Given the description of an element on the screen output the (x, y) to click on. 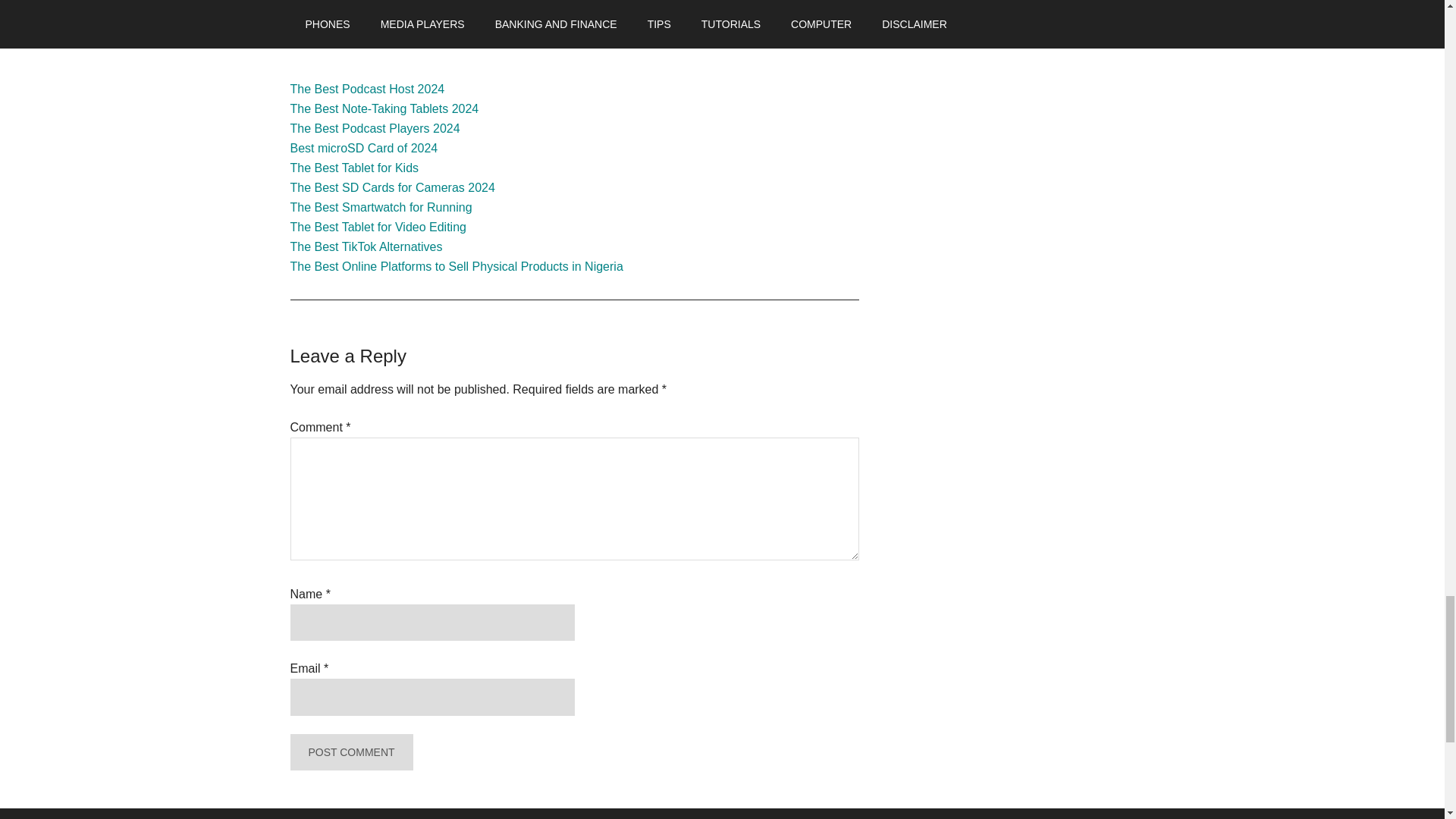
The Best Note-Taking Tablets 2024 (384, 108)
The Best Podcast Players 2024 (374, 128)
The Best Smartwatch for Running (380, 206)
The Best Podcast Host 2024 (366, 88)
Post Comment (350, 751)
Post Comment (350, 751)
Best microSD Card of 2024 (363, 147)
The Best TikTok Alternatives  (367, 246)
The Best SD Cards for Cameras 2024 (392, 187)
